Given the description of an element on the screen output the (x, y) to click on. 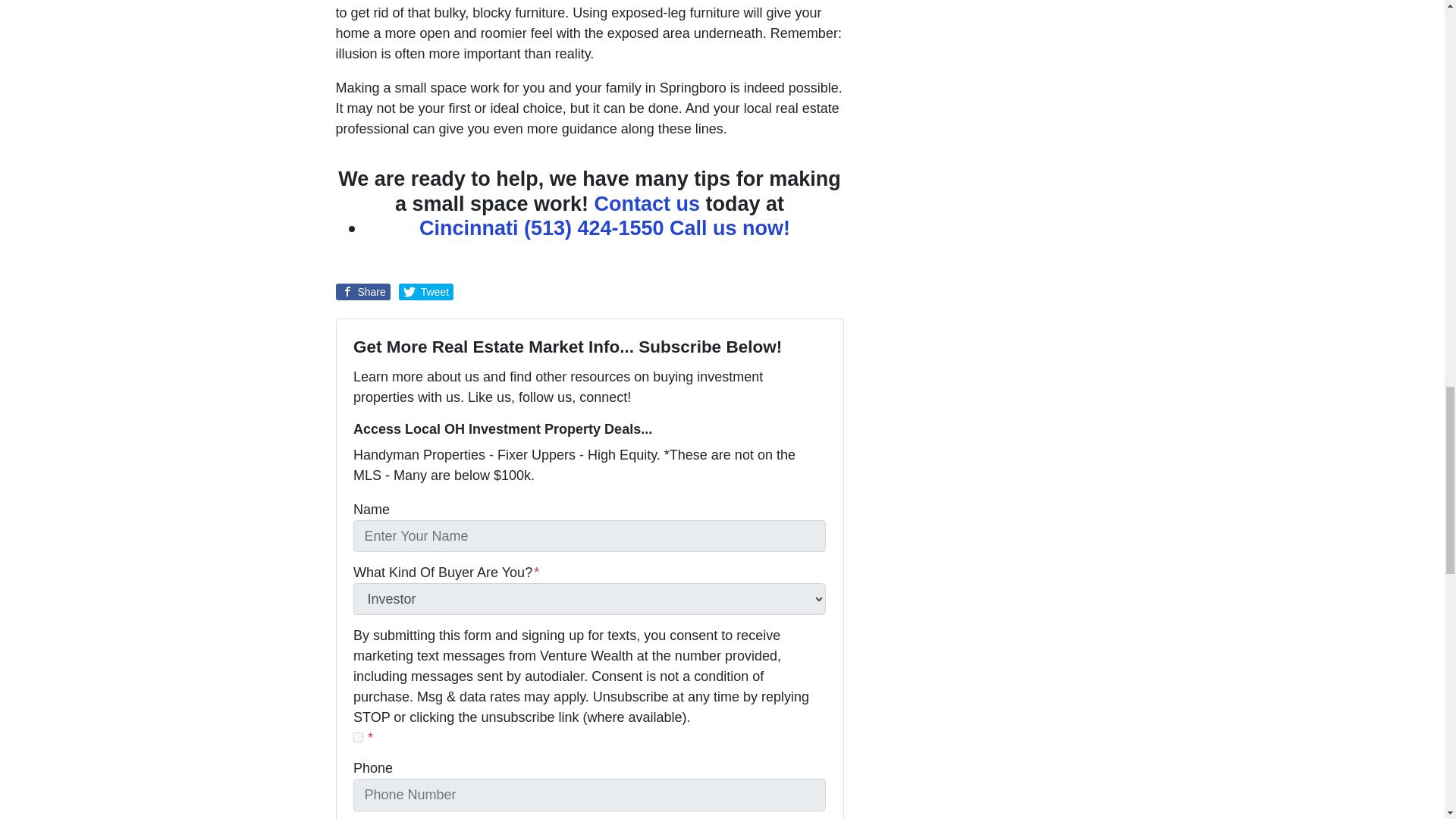
1 (357, 737)
